Given the description of an element on the screen output the (x, y) to click on. 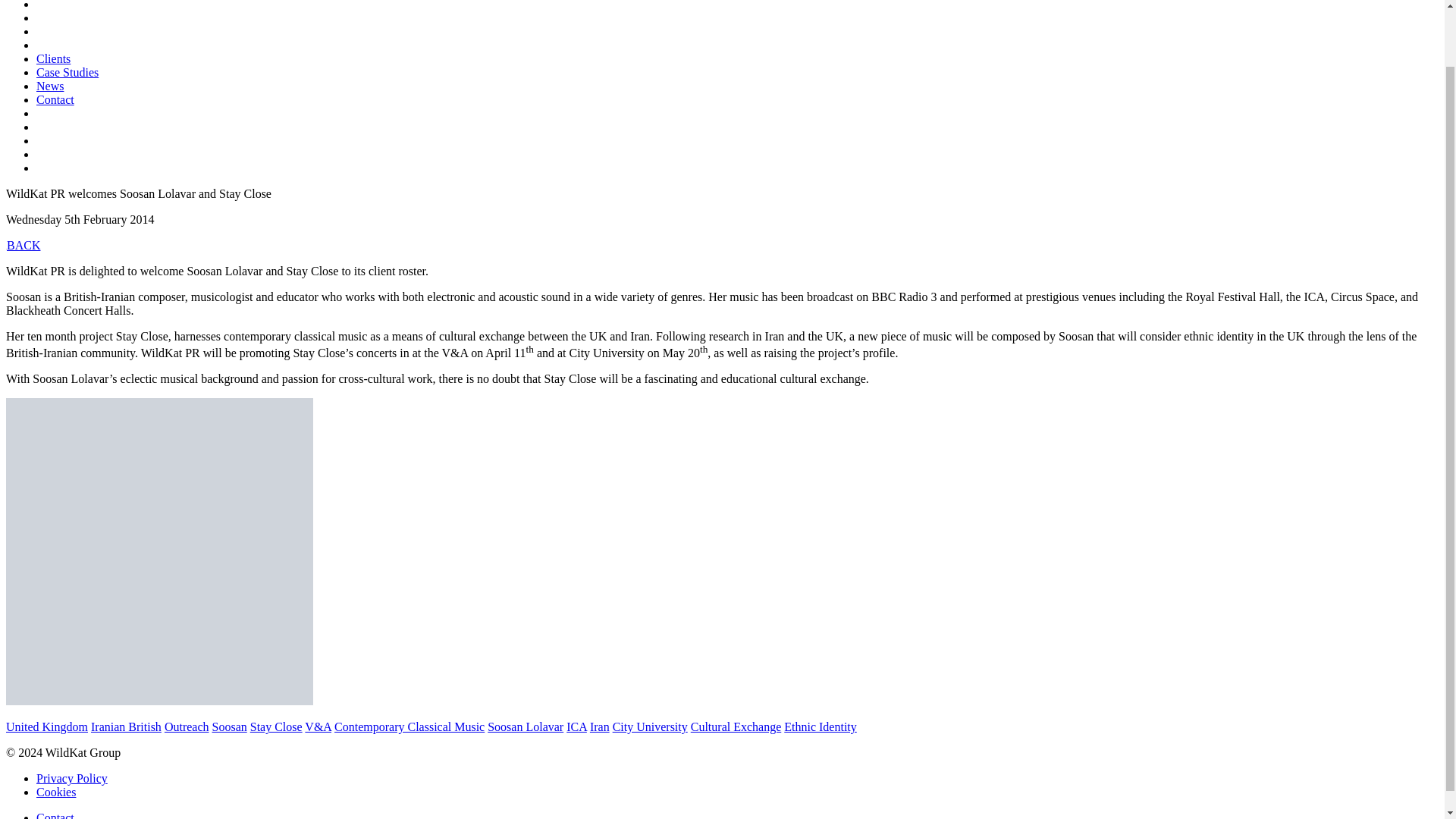
Stay Close (276, 726)
Iranian British (125, 726)
Cookies (55, 791)
News (50, 85)
Soosan Lolavar (525, 726)
Privacy Policy (71, 778)
Contemporary Classical Music (409, 726)
Soosan (229, 726)
United Kingdom (46, 726)
BACK (22, 245)
Ethnic Identity (820, 726)
Contact (55, 99)
Outreach (186, 726)
Clients (52, 58)
Case Studies (67, 72)
